Given the description of an element on the screen output the (x, y) to click on. 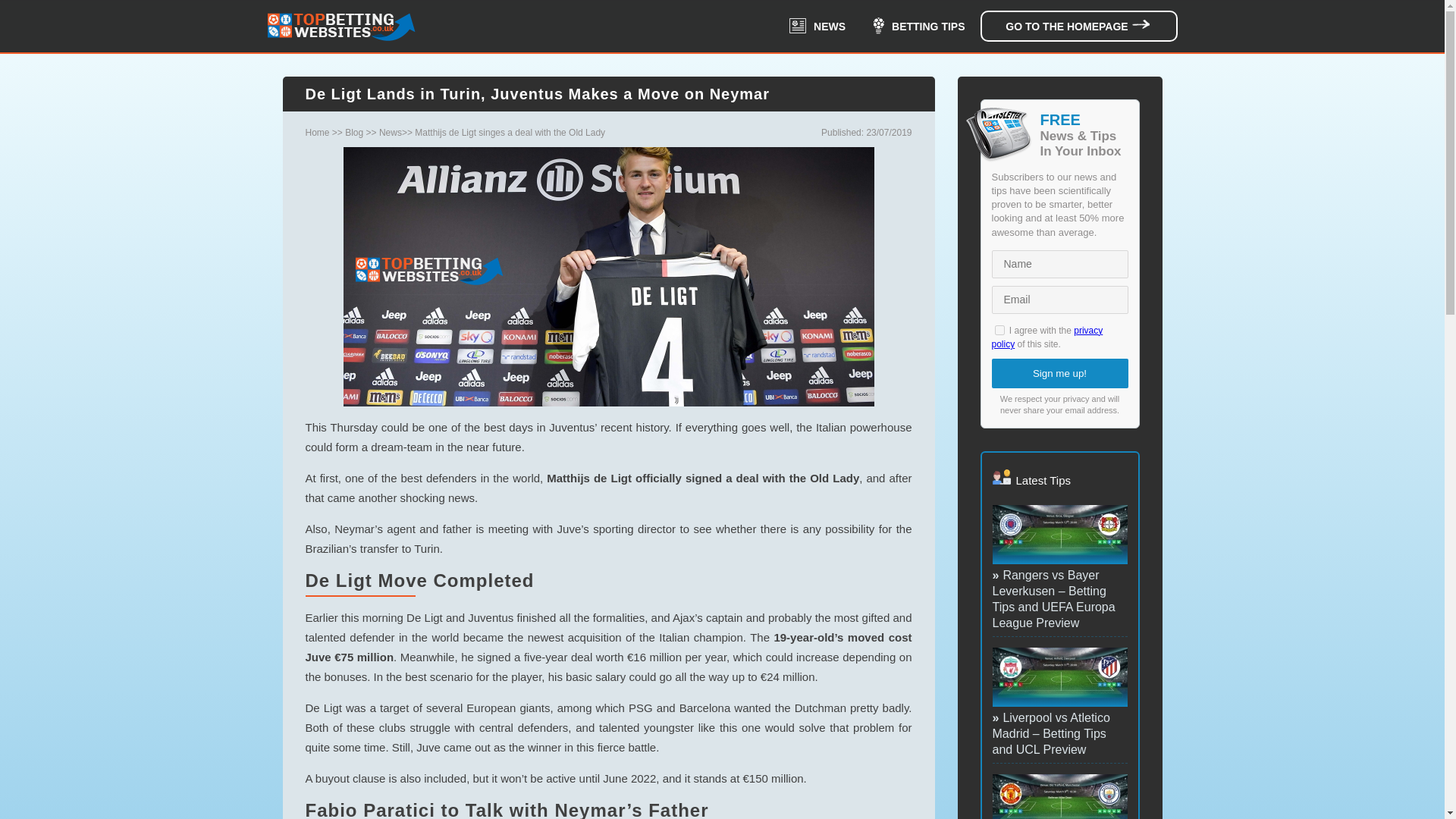
BETTING TIPS (918, 25)
privacy policy (1047, 337)
News (389, 132)
on (999, 329)
Sign me up! (1059, 373)
Blog (353, 132)
Sign me up! (1059, 373)
NEWS (817, 25)
top betting websites (340, 25)
GO TO THE HOMEPAGE (1077, 25)
